Given the description of an element on the screen output the (x, y) to click on. 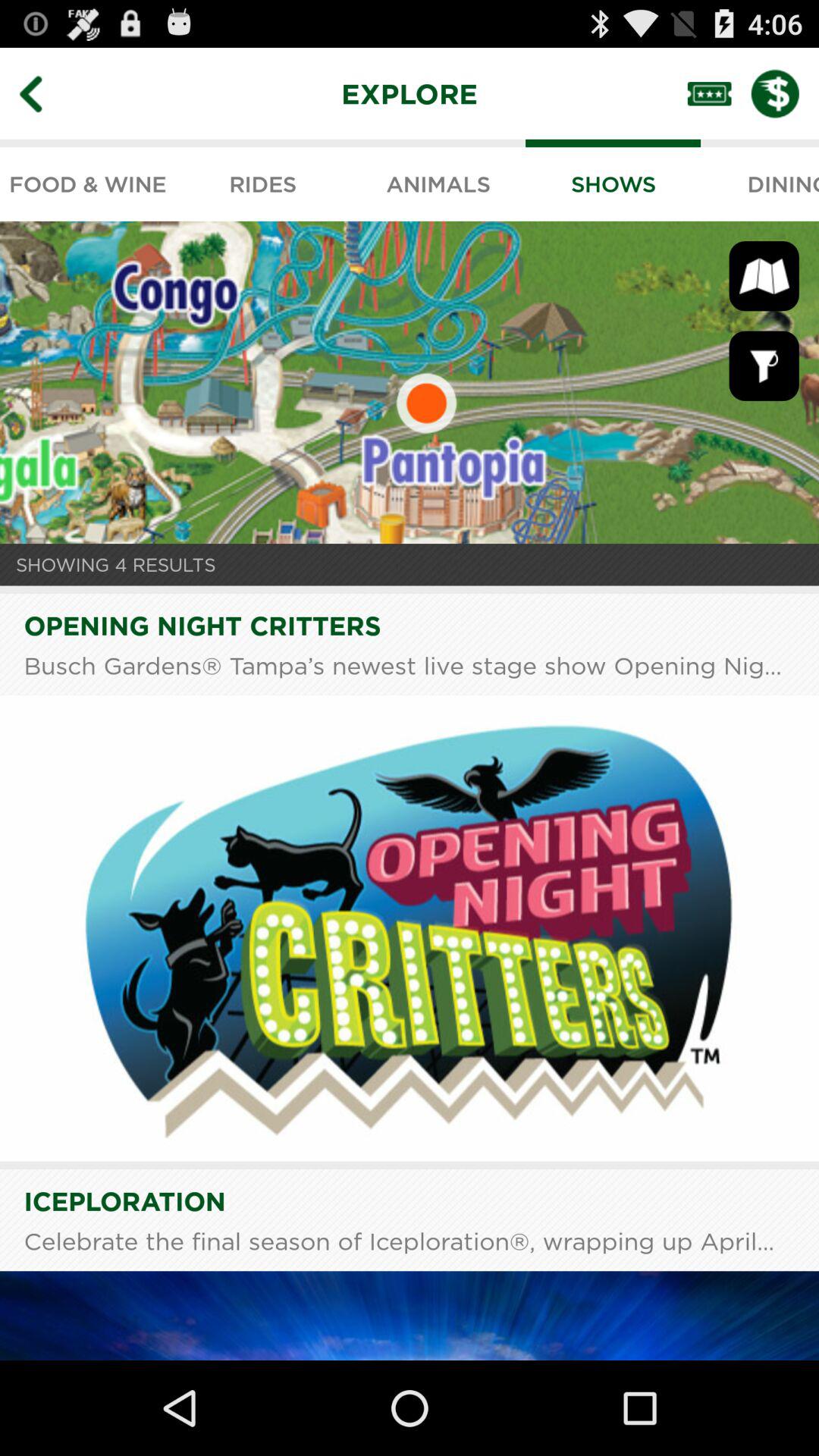
select the icon next to food  wine (262, 180)
